Given the description of an element on the screen output the (x, y) to click on. 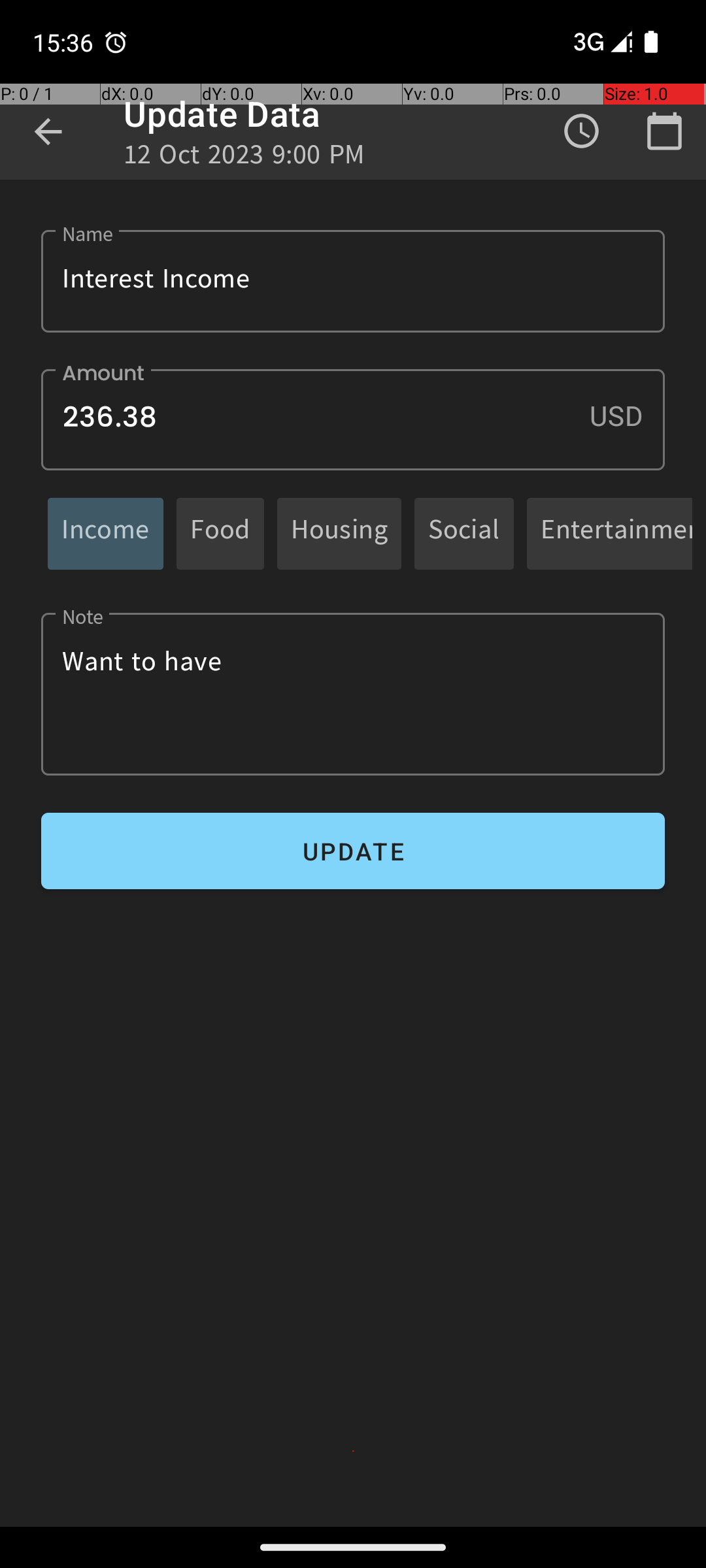
12 Oct 2023 9:00 PM Element type: android.widget.TextView (244, 157)
Interest Income Element type: android.widget.EditText (352, 280)
236.38 Element type: android.widget.EditText (352, 419)
